Given the description of an element on the screen output the (x, y) to click on. 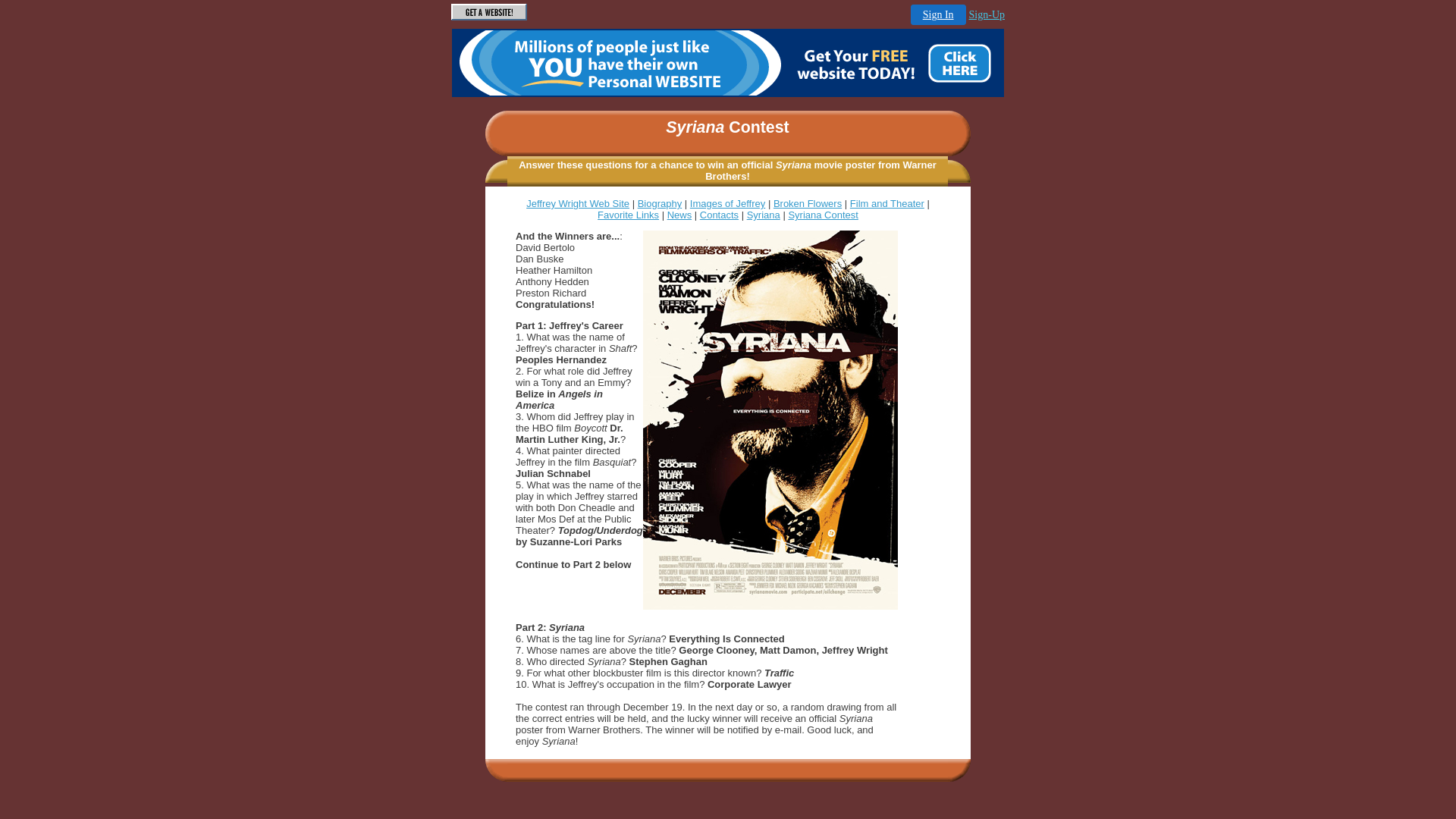
Syriana Element type: text (763, 214)
Sign-Up Element type: text (986, 14)
Broken Flowers Element type: text (807, 203)
Favorite Links Element type: text (627, 214)
Film and Theater Element type: text (887, 203)
Biography Element type: text (659, 203)
Contacts Element type: text (718, 214)
Images of Jeffrey Element type: text (727, 203)
Jeffrey Wright Web Site Element type: text (577, 203)
Sign In Element type: text (938, 14)
Syriana Contest Element type: text (822, 214)
News Element type: text (679, 214)
